Given the description of an element on the screen output the (x, y) to click on. 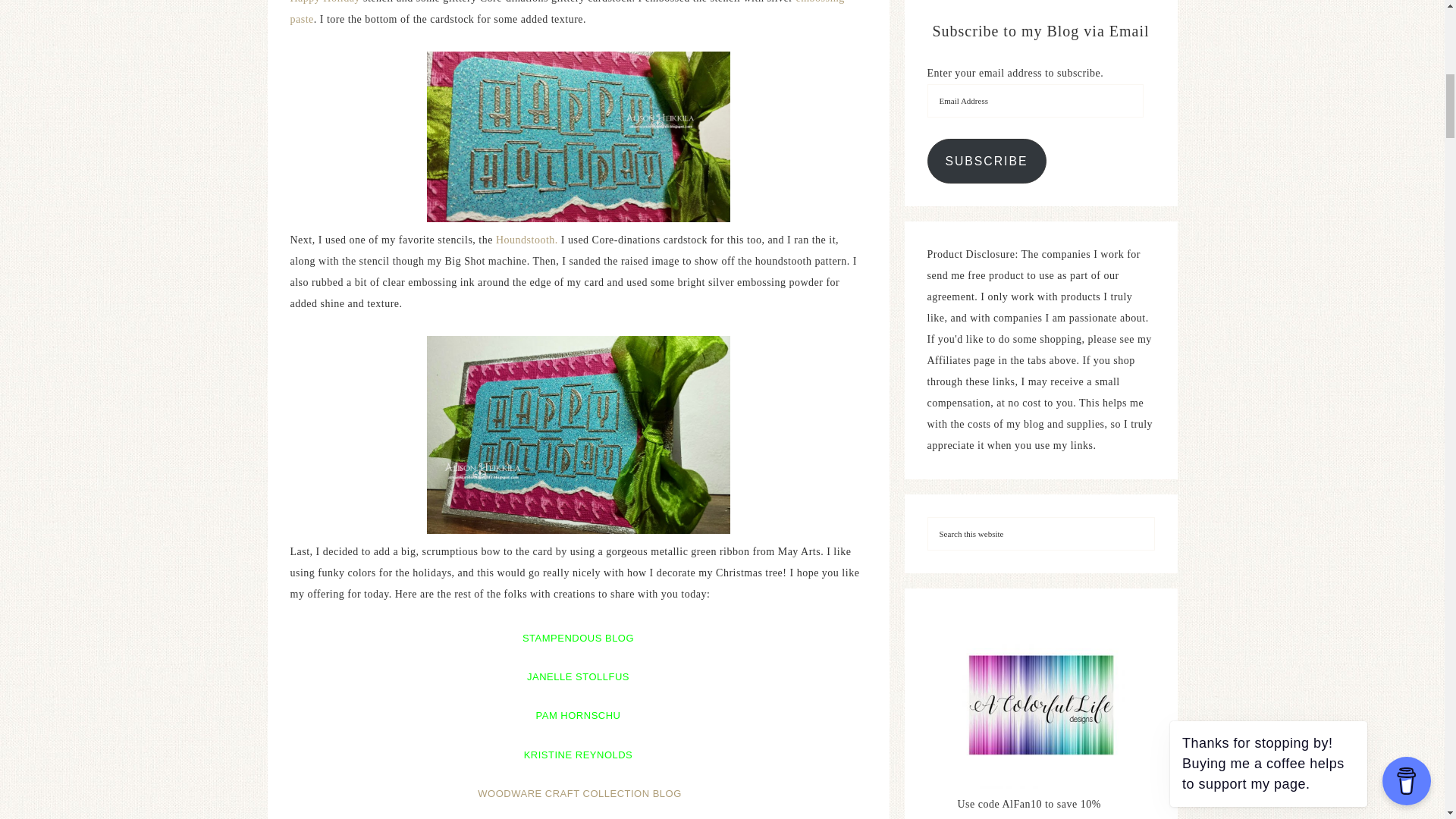
WOODWARE CRAFT COLLECTION BLOG (579, 793)
STAMPENDOUS BLOG (577, 635)
PAM HORNSCHU (578, 712)
JANELLE STOLLFUS (577, 674)
Happy Holiday (324, 2)
KRISTINE REYNOLDS (578, 752)
embossing paste (566, 12)
Houndstooth. (526, 239)
